Given the description of an element on the screen output the (x, y) to click on. 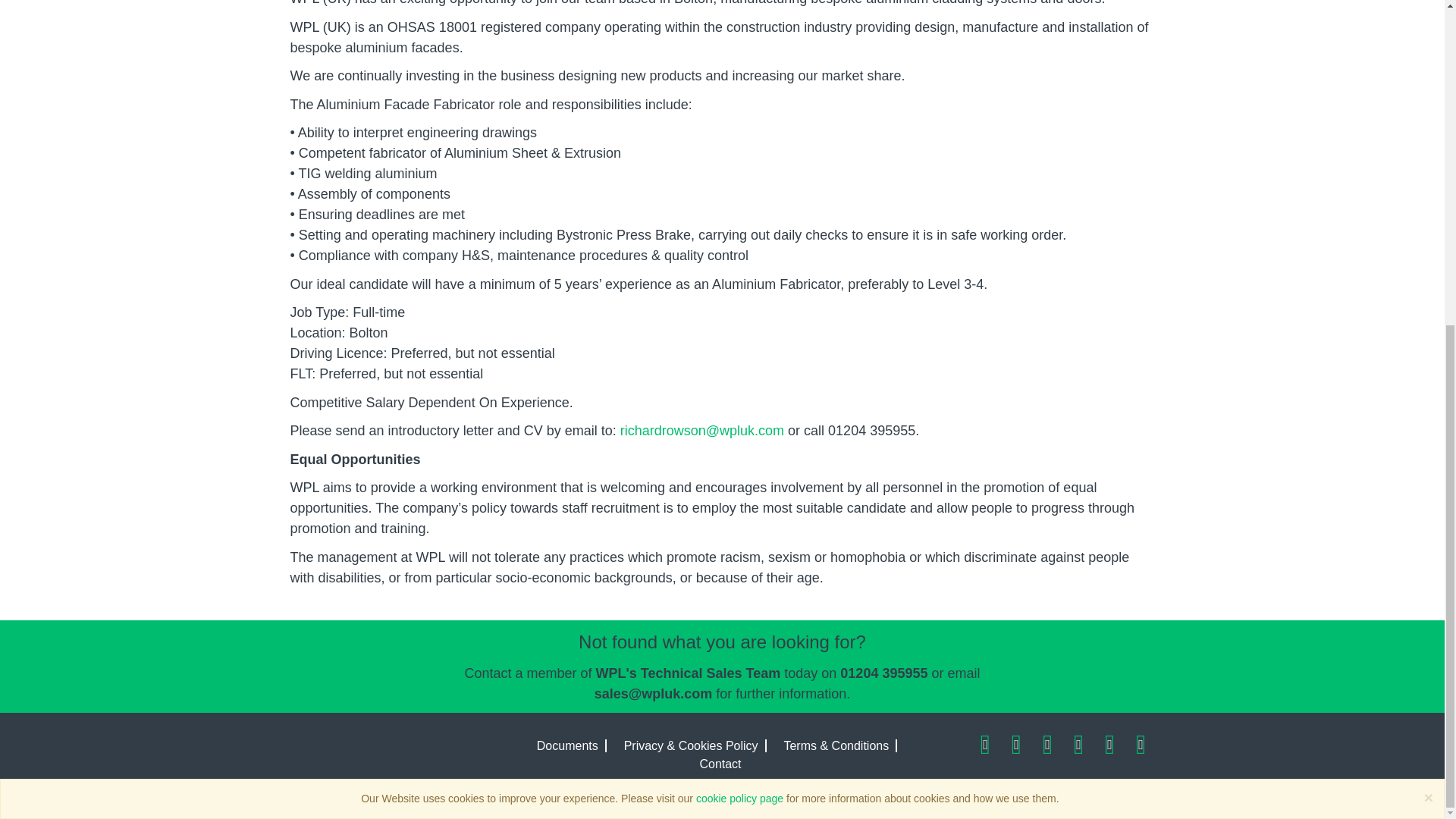
cookie policy page (739, 264)
Documents (567, 741)
Contact (719, 760)
